Given the description of an element on the screen output the (x, y) to click on. 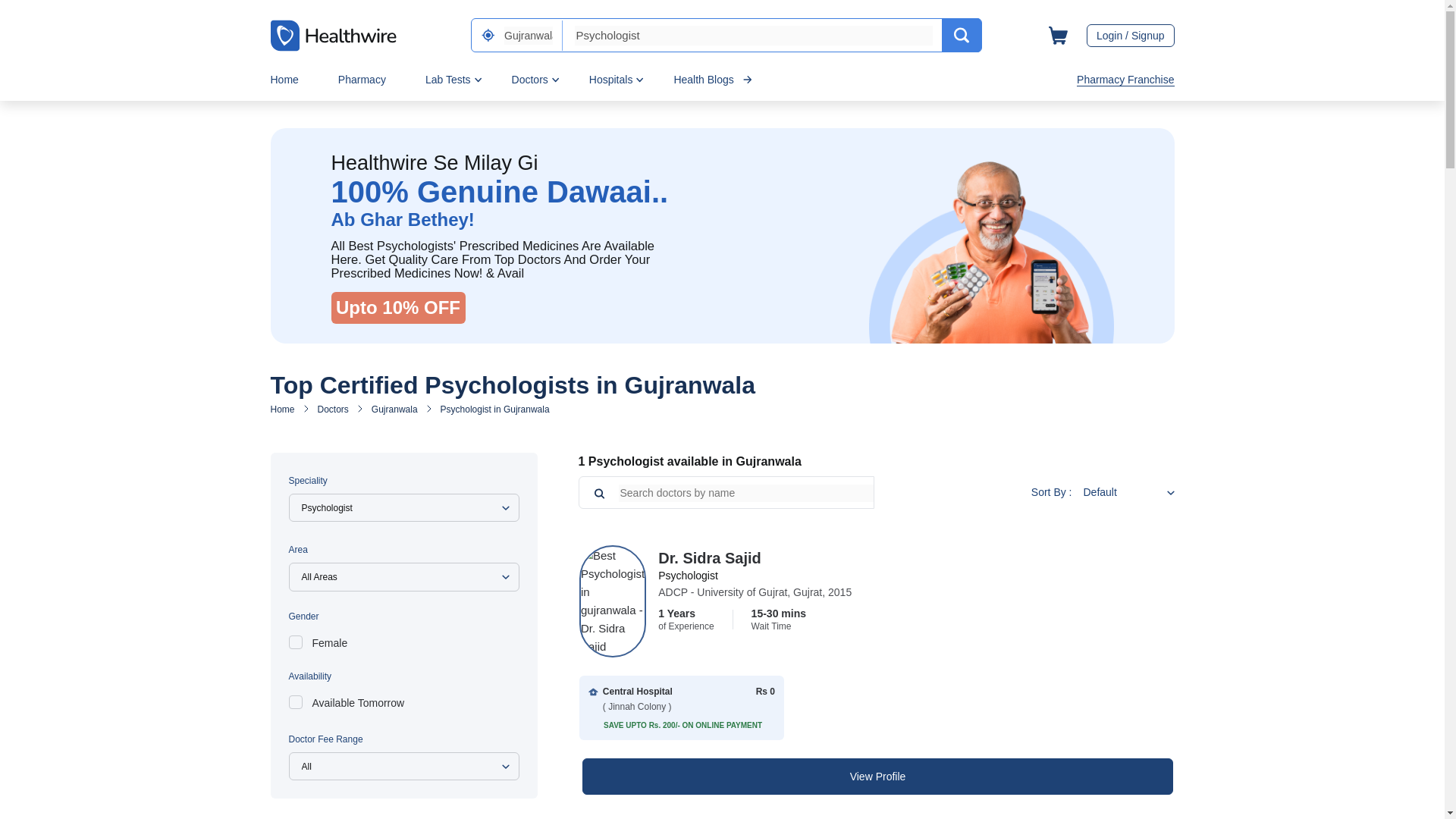
Pharmacy (361, 79)
Doctors (530, 79)
Gujranwala (527, 34)
Gujranwala (527, 34)
Psychologist (754, 35)
Lab Tests (447, 79)
Doctors in Pakistan (333, 409)
Psychologist (754, 35)
Doctors in Gujranwala (394, 409)
Home (283, 79)
